Given the description of an element on the screen output the (x, y) to click on. 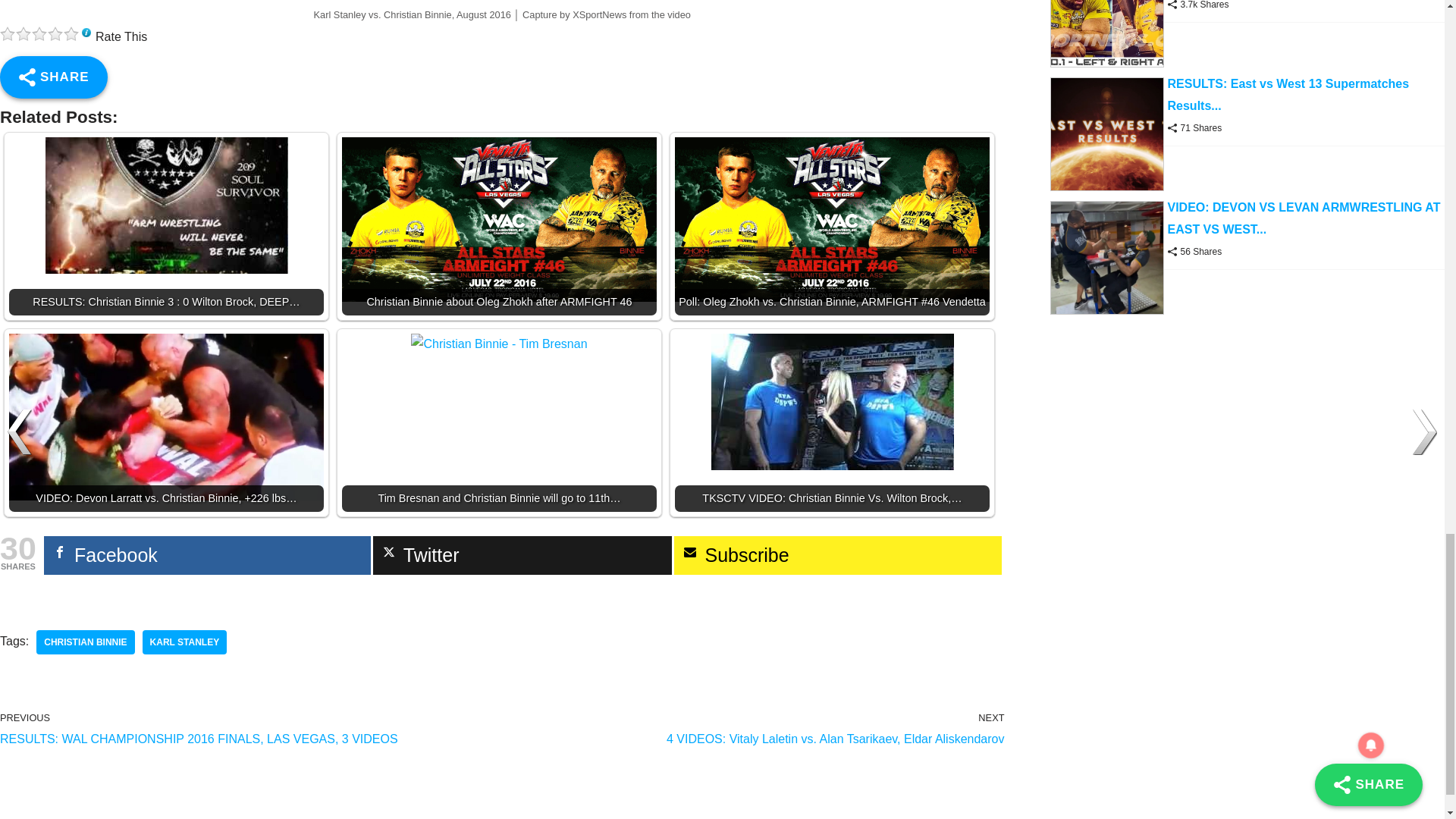
Christian Binnie about Oleg Zhokh after ARMFIGHT 46 (499, 219)
Karl Stanley (184, 641)
Christian Binnie (84, 641)
